Given the description of an element on the screen output the (x, y) to click on. 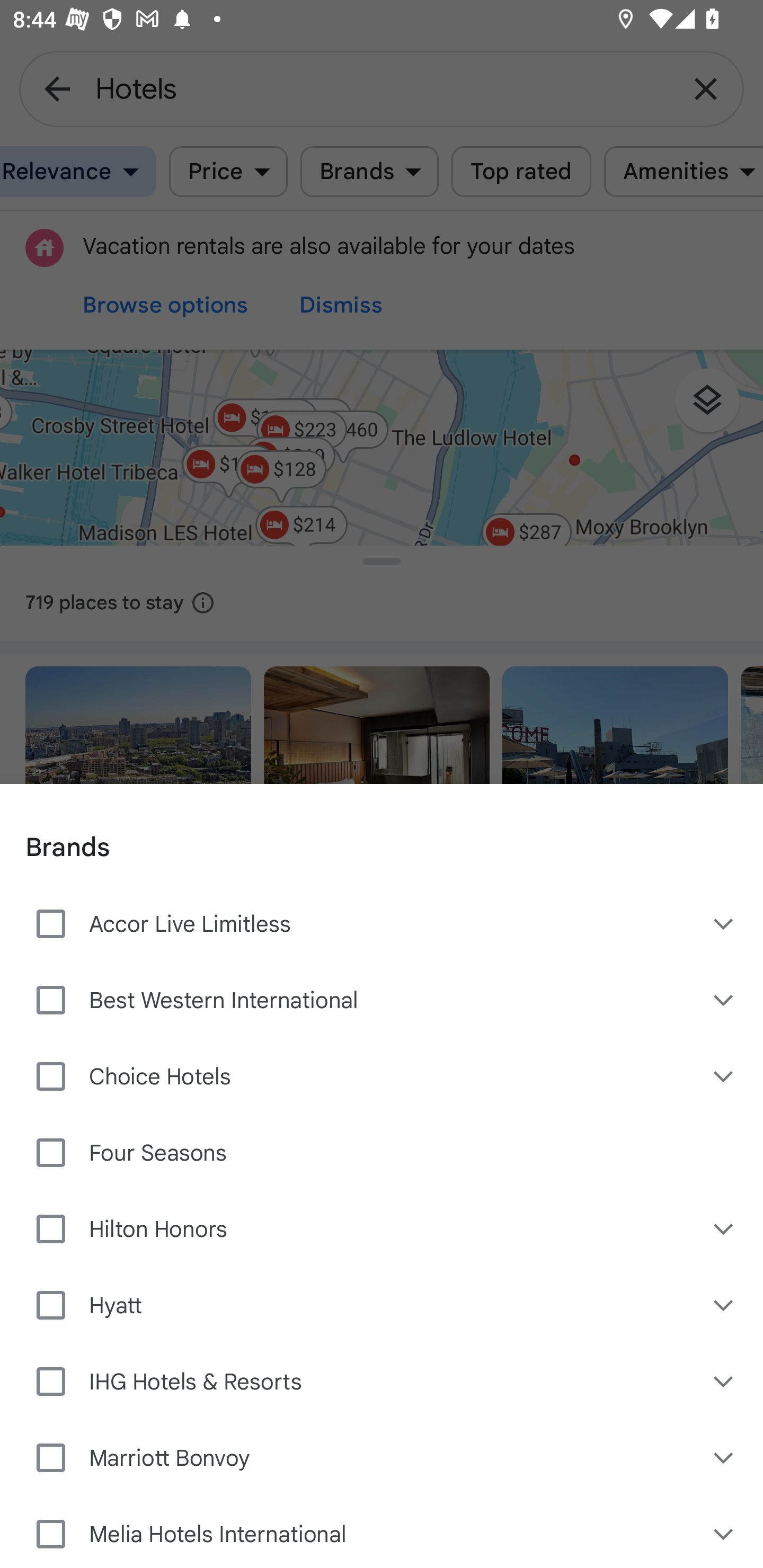
Accor Live Limitless, Activate to expand (724, 923)
Best Western International, Activate to expand (724, 1000)
Choice Hotels, Activate to expand (724, 1076)
Hilton Honors, Activate to expand (724, 1228)
Not checked, Hyatt. Activate to check Hyatt (355, 1304)
Hyatt, Activate to expand (724, 1304)
IHG Hotels & Resorts, Activate to expand (724, 1381)
Marriott Bonvoy, Activate to expand (724, 1457)
Melia Hotels International, Activate to expand (724, 1531)
